Given the description of an element on the screen output the (x, y) to click on. 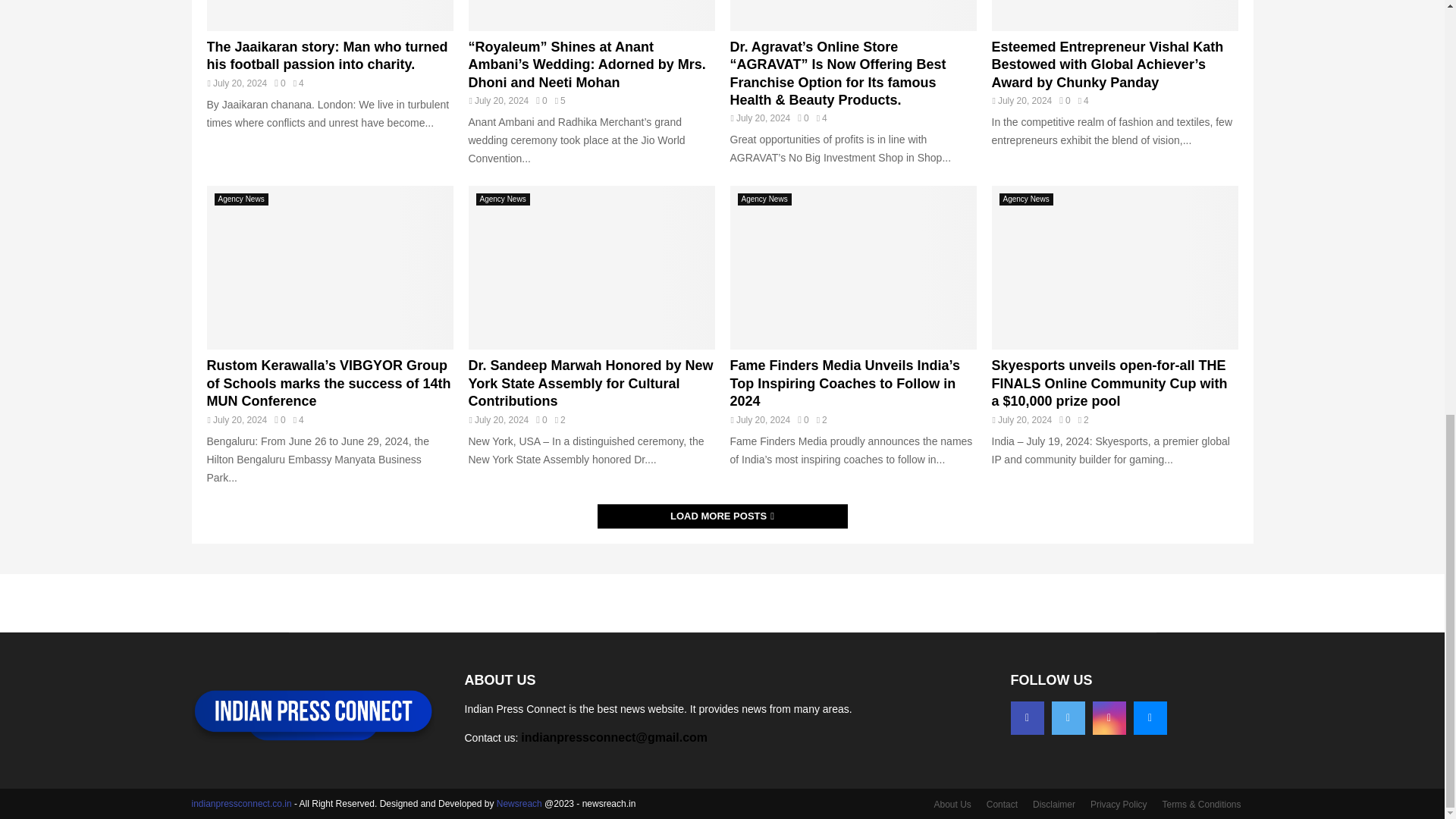
0 (1064, 100)
0 (802, 118)
0 (280, 82)
Agency News (240, 199)
0 (541, 100)
0 (280, 419)
